Given the description of an element on the screen output the (x, y) to click on. 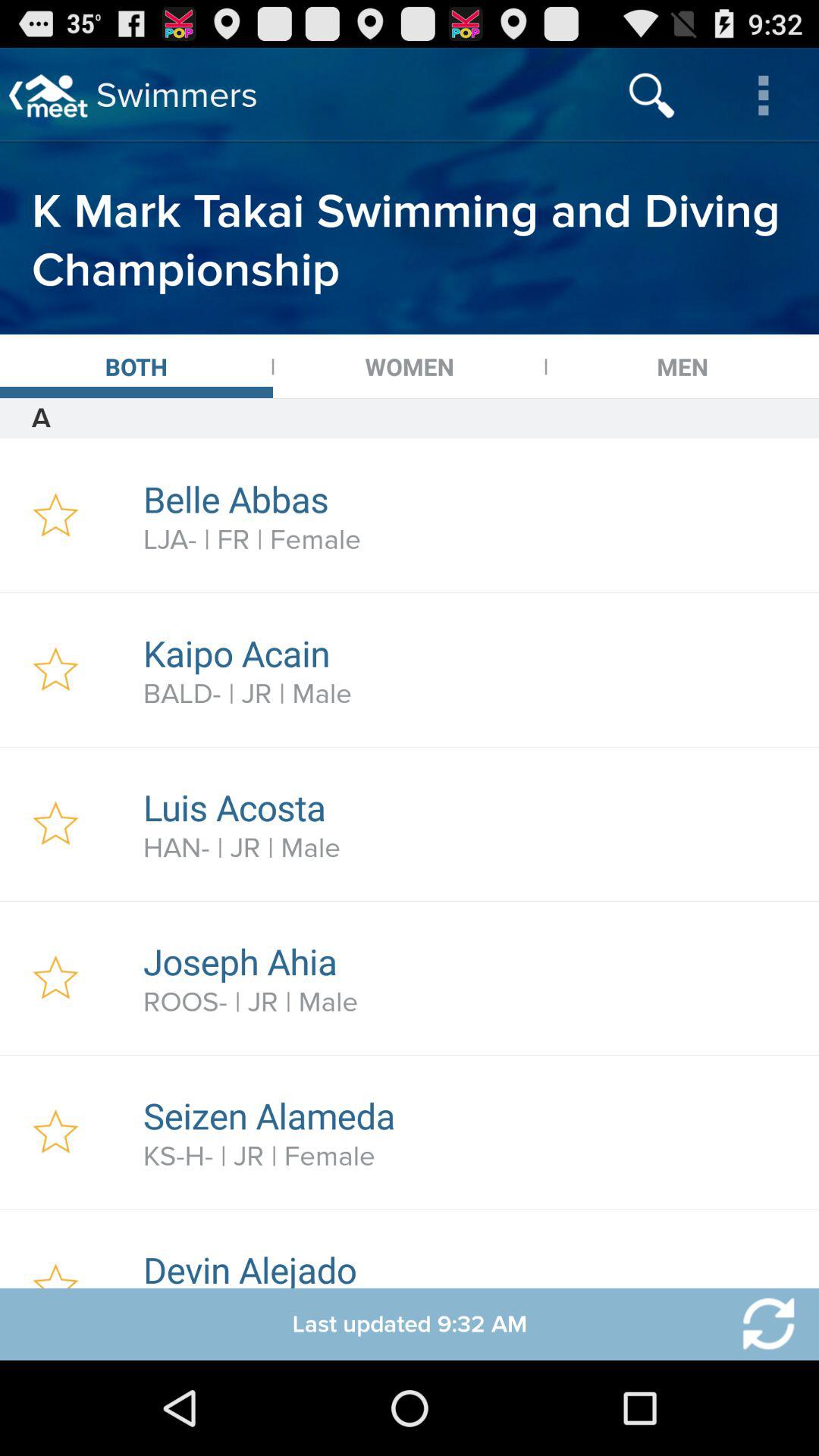
open item below the devin alejado icon (759, 1324)
